Given the description of an element on the screen output the (x, y) to click on. 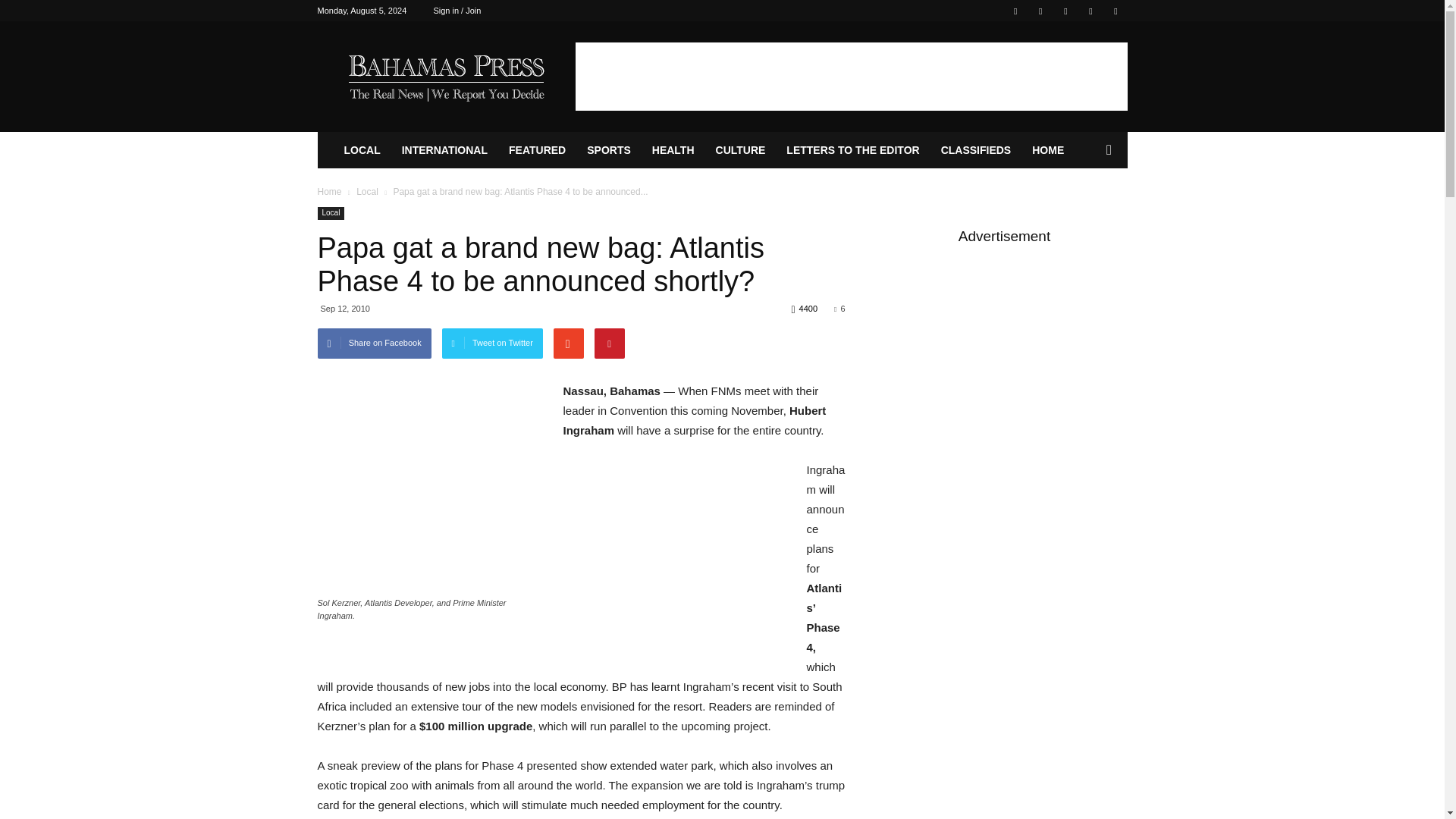
LOCAL (362, 149)
View all posts in Local (367, 191)
FEATURED (536, 149)
LETTERS TO THE EDITOR (853, 149)
Advertisement (850, 76)
CULTURE (740, 149)
Vimeo (1065, 10)
HEALTH (673, 149)
Youtube (1114, 10)
Twitter (1040, 10)
